Given the description of an element on the screen output the (x, y) to click on. 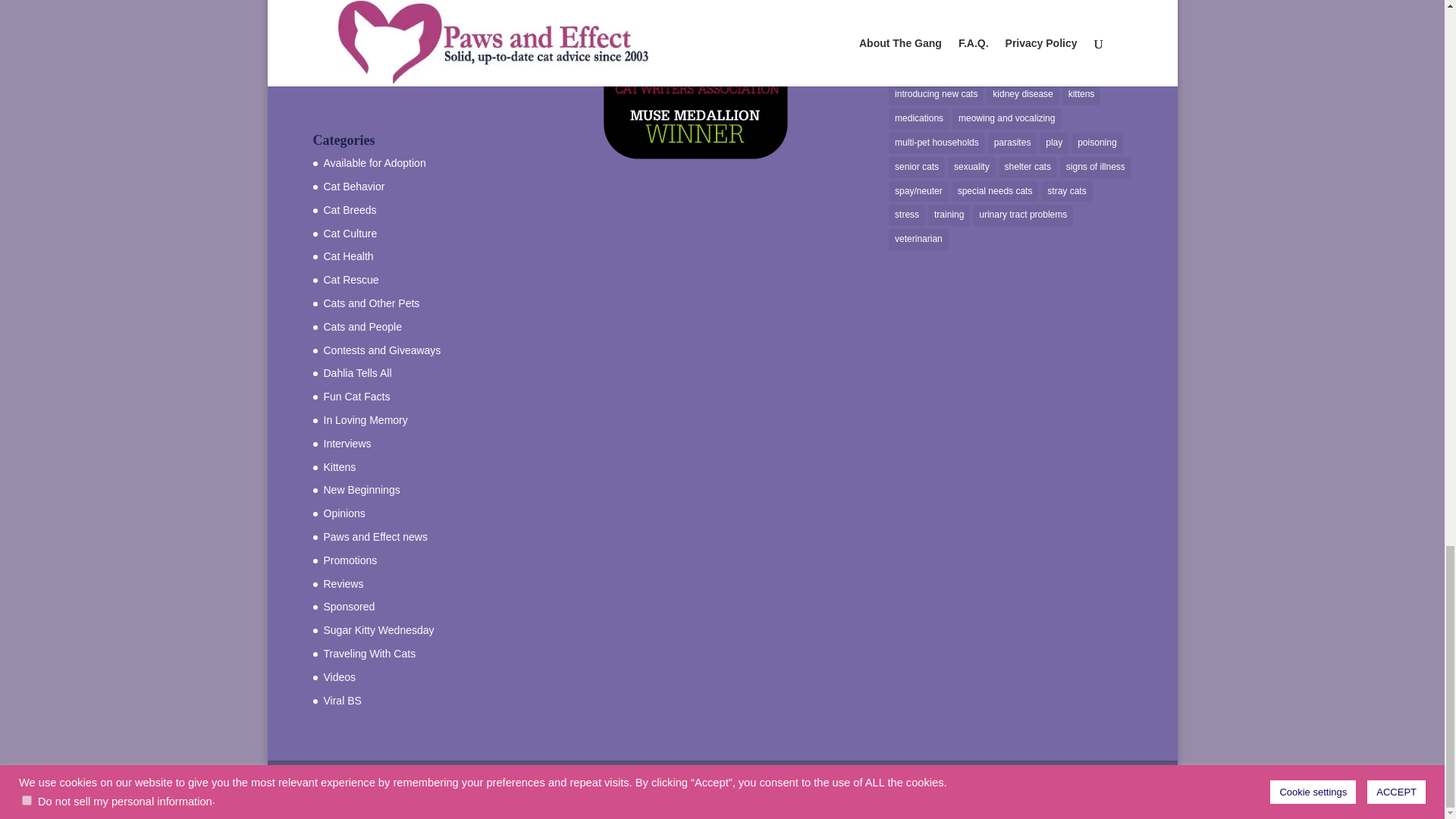
Kittens (339, 467)
Reviews (342, 583)
Contests and Giveaways (382, 349)
Dahlia Tells All (357, 372)
Promotions (350, 560)
In Loving Memory (365, 419)
Fun Cat Facts (356, 396)
Sugar Kitty Wednesday (378, 630)
Cat Behavior (353, 186)
Cats and Other Pets (371, 303)
